Given the description of an element on the screen output the (x, y) to click on. 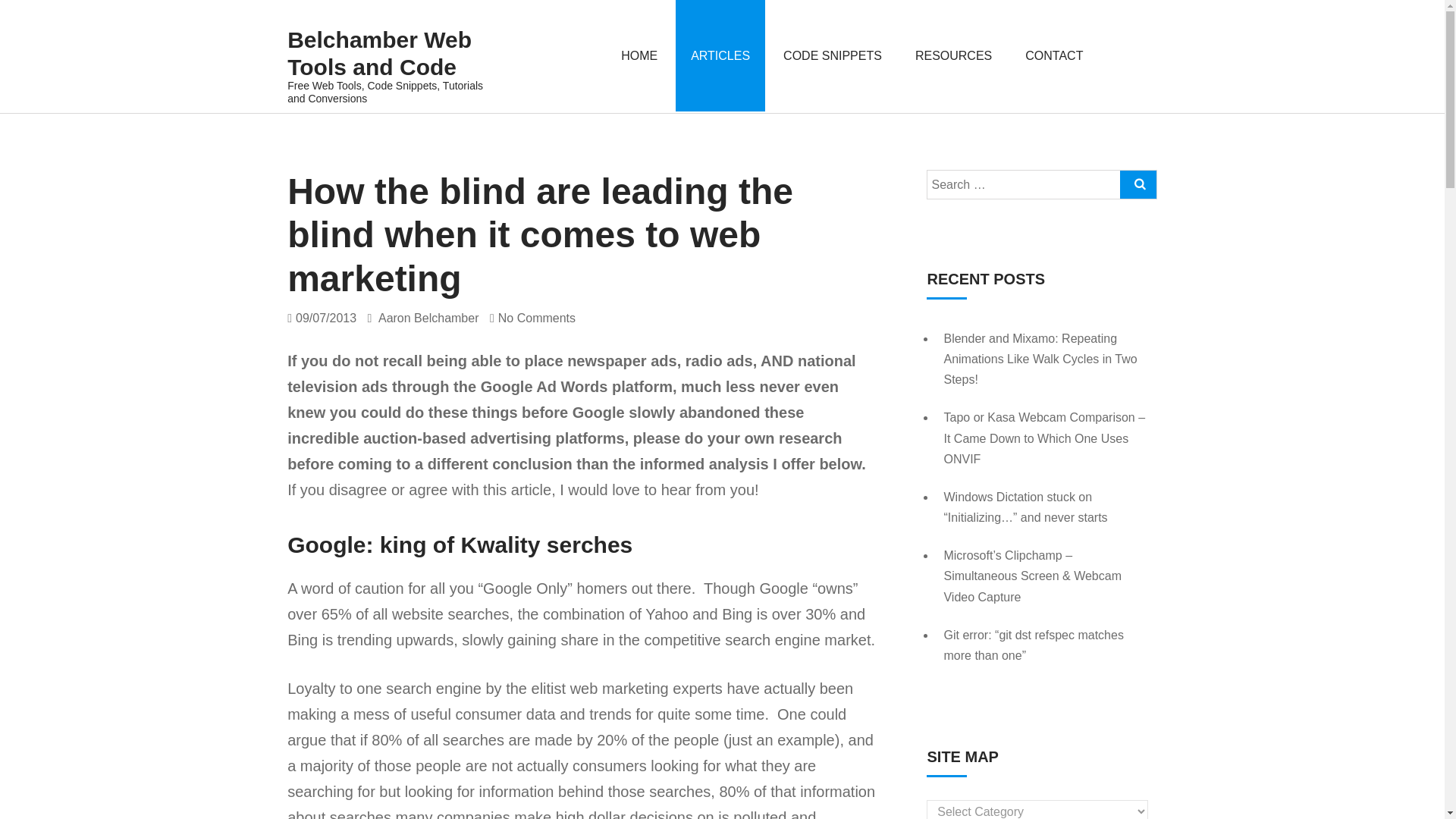
Search (1132, 52)
Belchamber Web Tools and Code (388, 53)
RESOURCES (953, 55)
Search (1137, 184)
CODE SNIPPETS (832, 55)
Search (1137, 184)
Search (1132, 52)
Search (1132, 52)
